Given the description of an element on the screen output the (x, y) to click on. 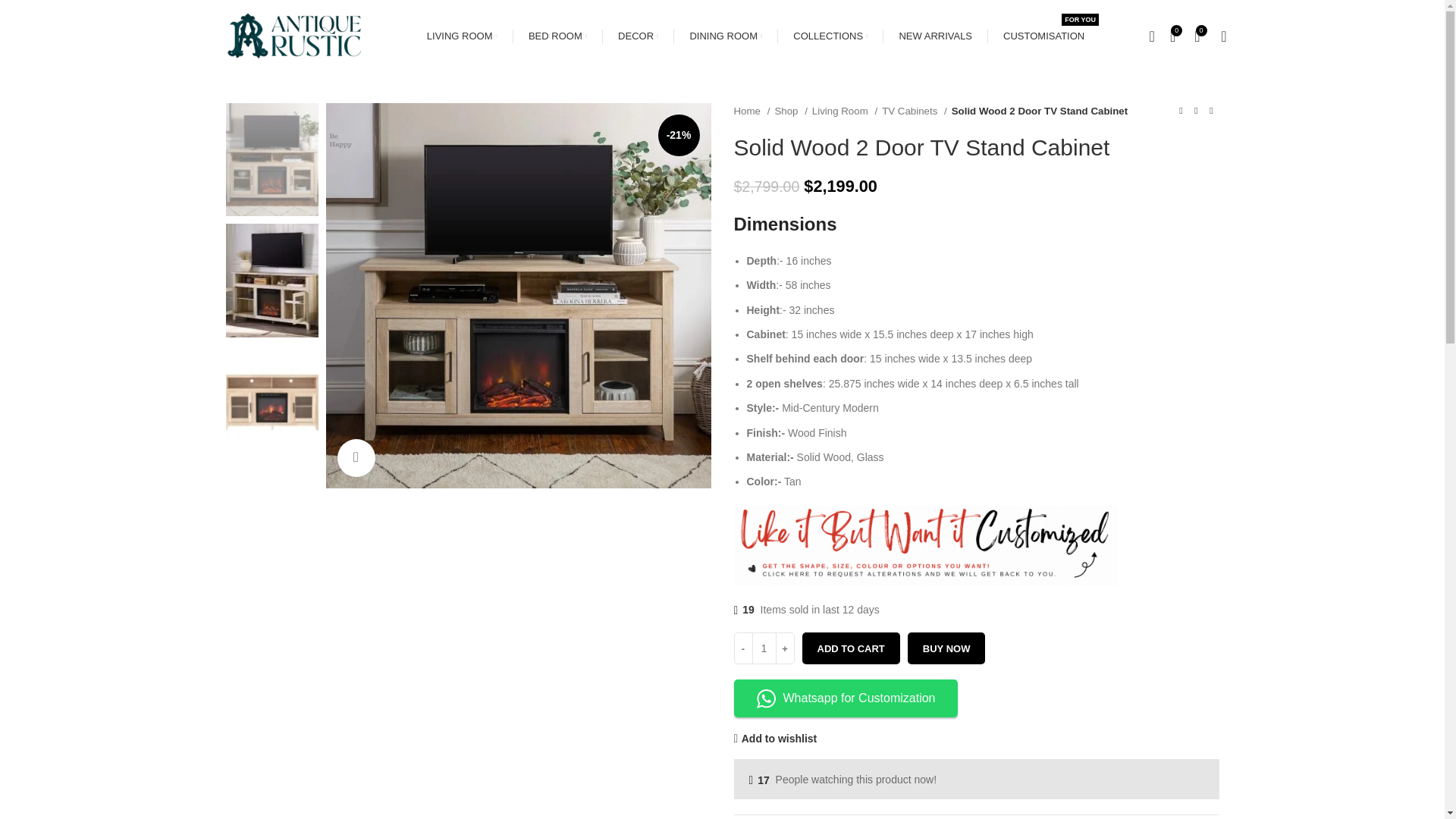
COLLECTIONS (830, 36)
LIVING ROOM (461, 36)
NEW ARRIVALS (935, 36)
DINING ROOM (724, 36)
BED ROOM (1043, 36)
DECOR (557, 36)
